Given the description of an element on the screen output the (x, y) to click on. 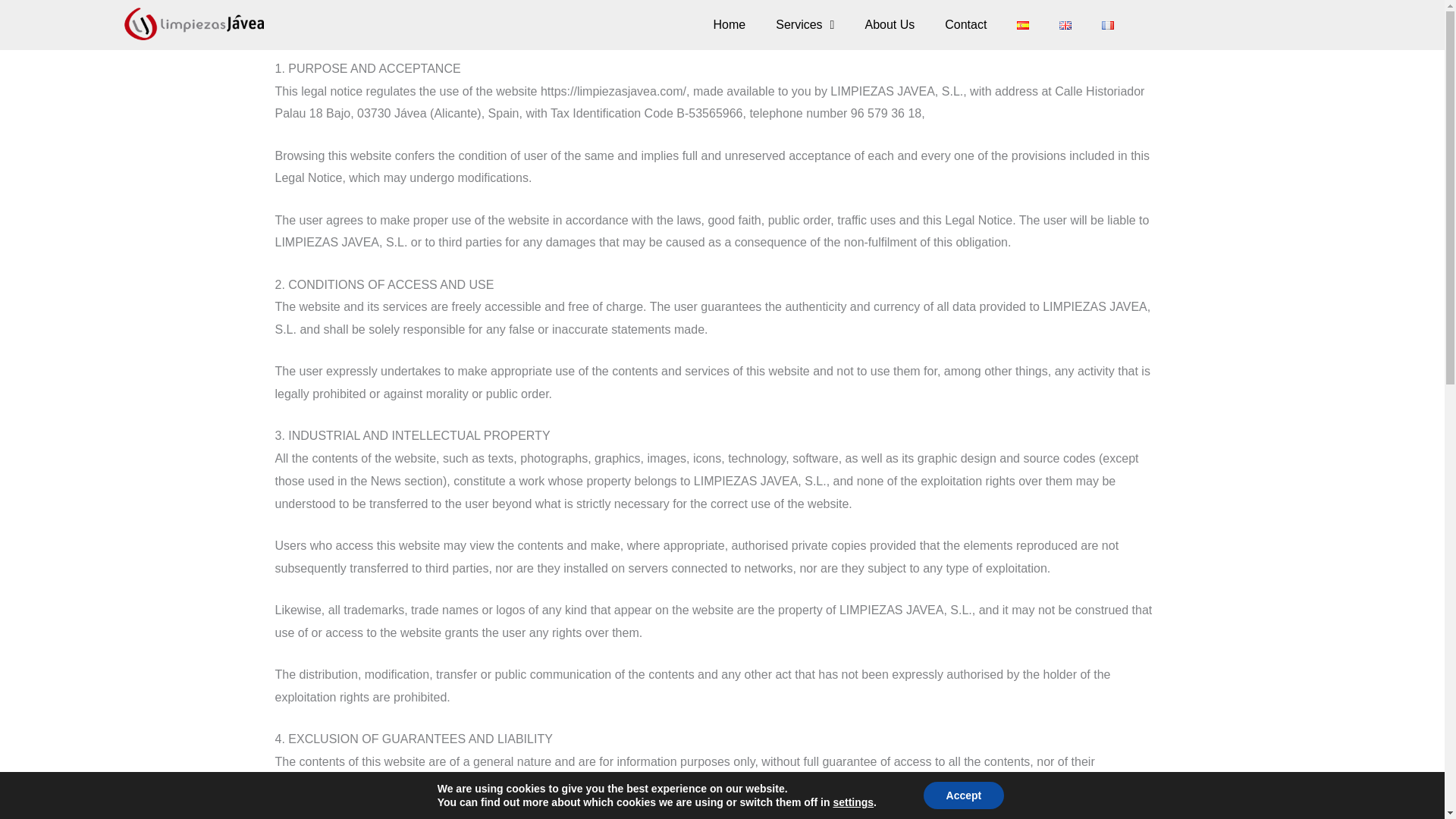
Home (729, 24)
Services (804, 24)
Contact (965, 24)
About Us (889, 24)
